Given the description of an element on the screen output the (x, y) to click on. 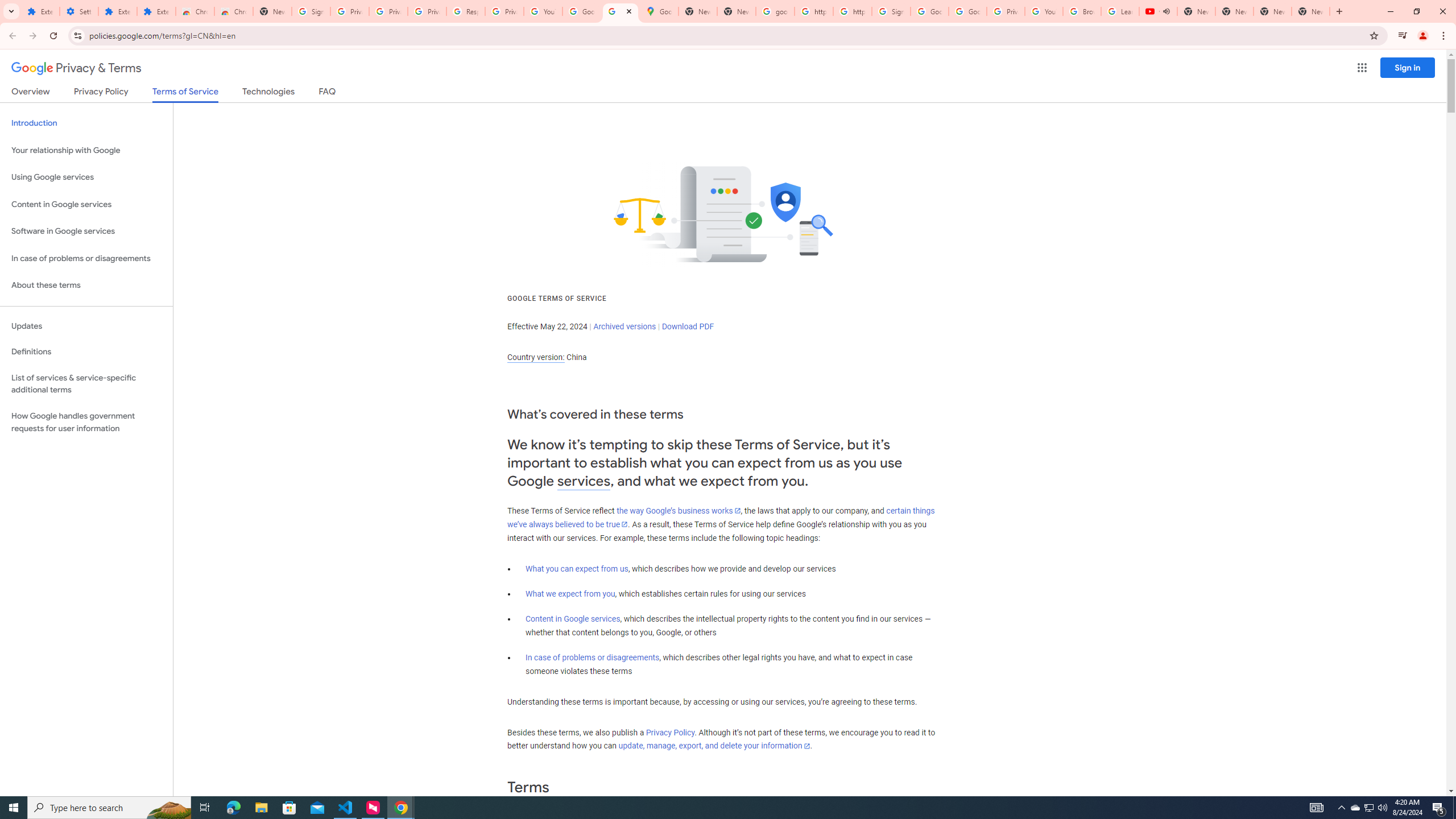
Extensions (156, 11)
How Google handles government requests for user information (86, 422)
List of services & service-specific additional terms (86, 383)
Software in Google services (86, 230)
In case of problems or disagreements (592, 657)
Mute tab (1165, 10)
